Given the description of an element on the screen output the (x, y) to click on. 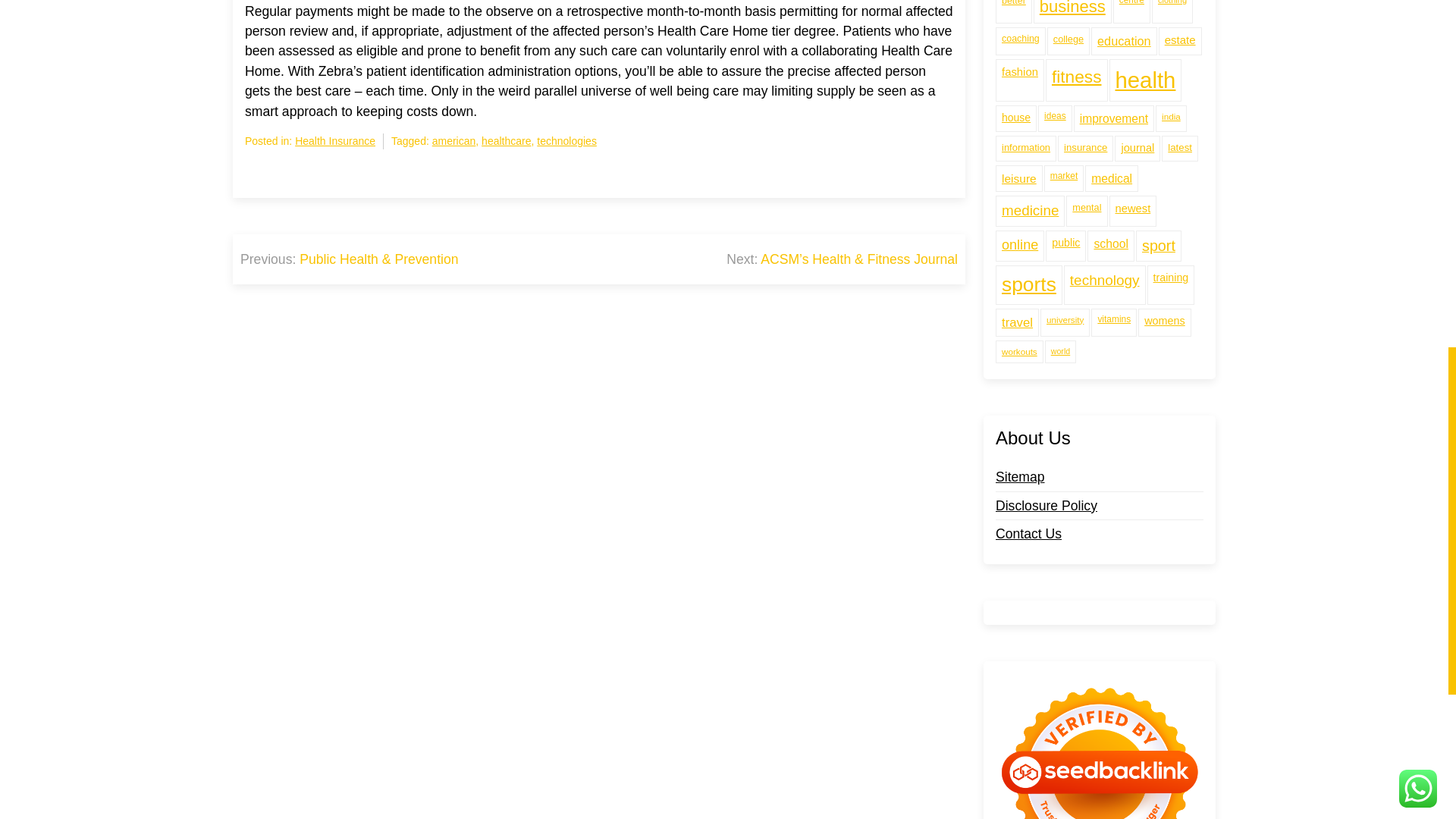
college (1067, 9)
technologies (566, 141)
Seedbacklink (1099, 728)
Health Insurance (335, 141)
healthcare (506, 141)
american (454, 141)
education (1123, 9)
coaching (1020, 9)
